Given the description of an element on the screen output the (x, y) to click on. 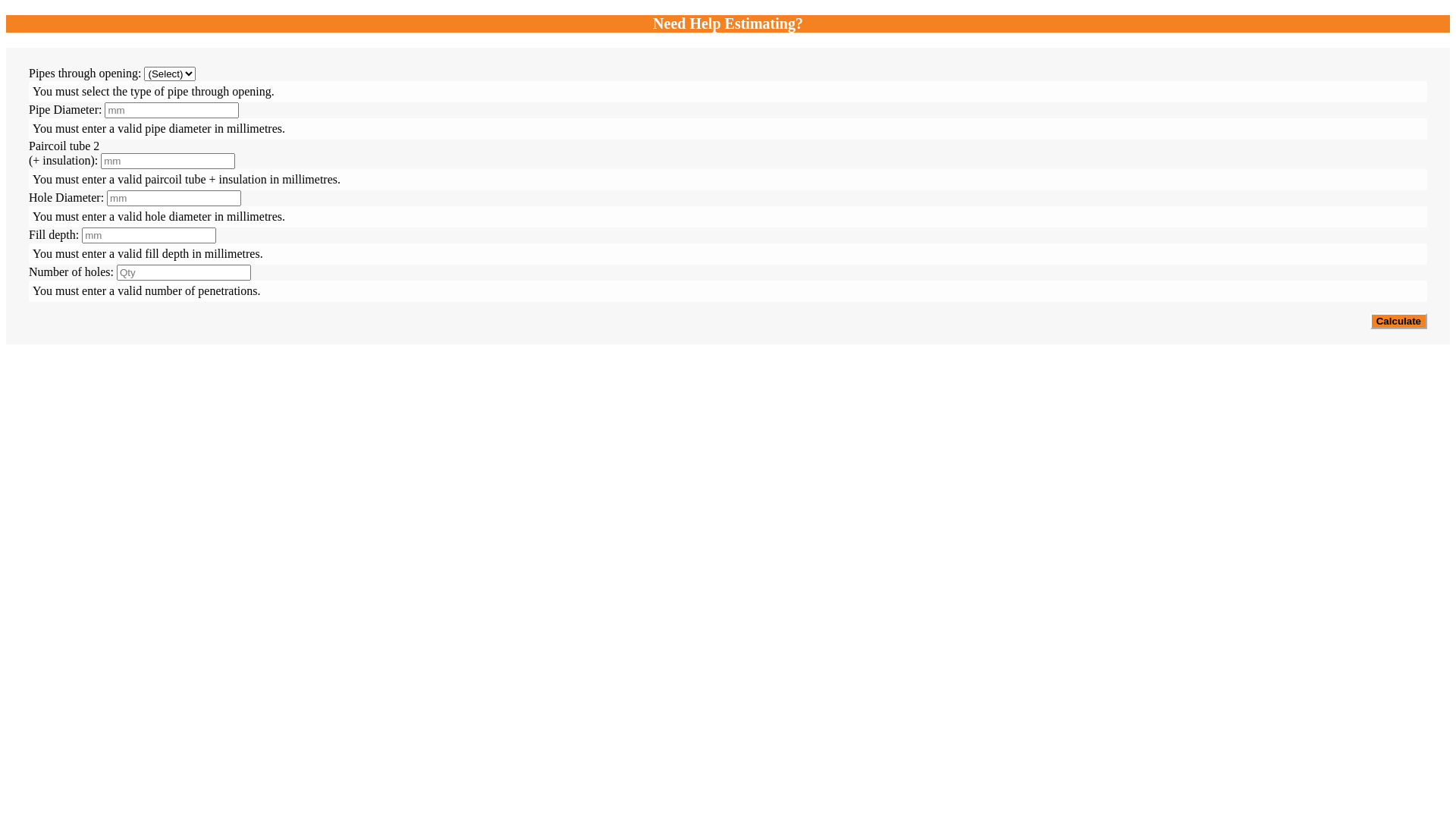
Calculate Element type: text (1398, 321)
